Given the description of an element on the screen output the (x, y) to click on. 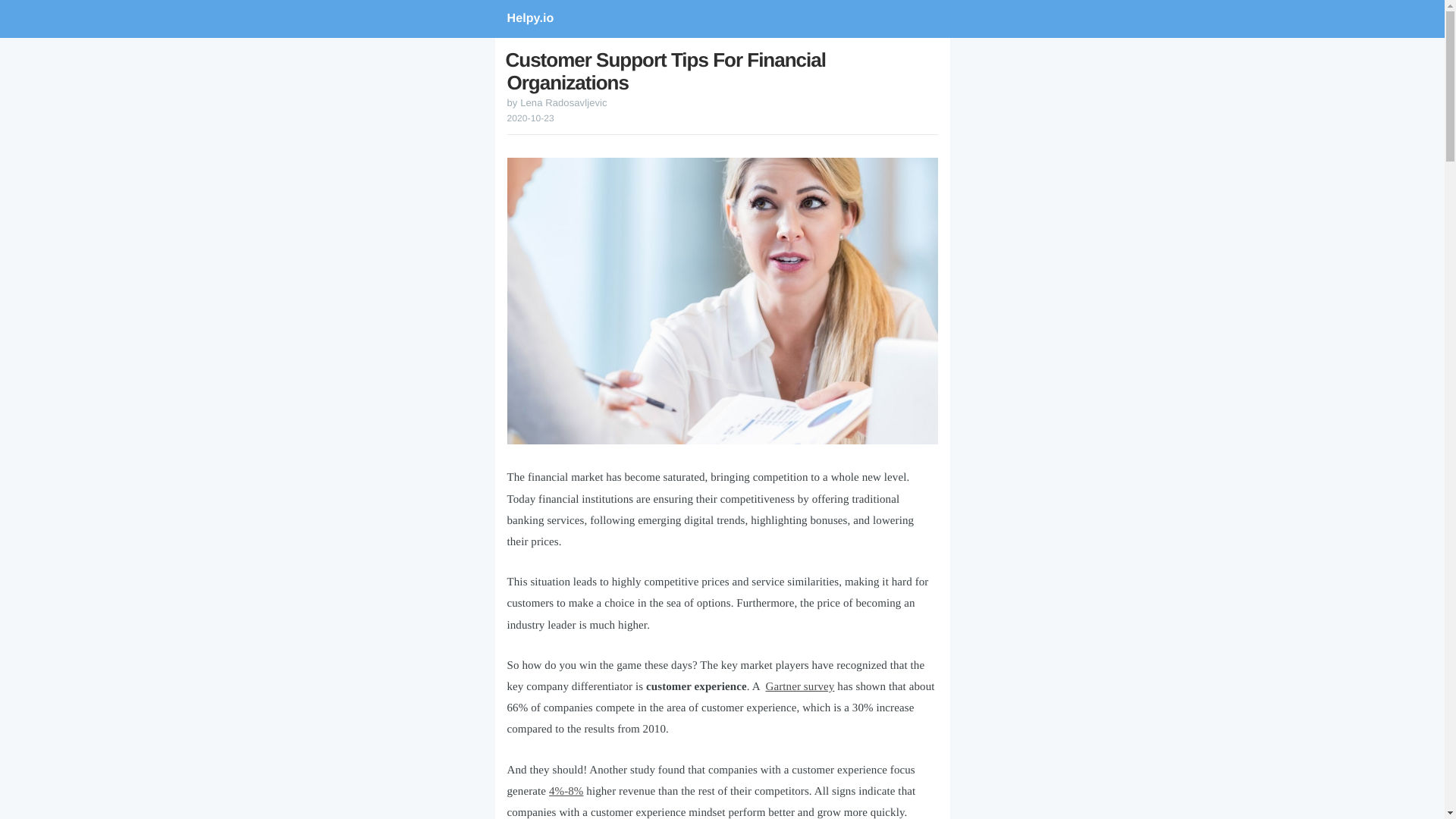
Lena Radosavljevic (563, 102)
Helpy.io (722, 18)
Gartner survey (799, 686)
